Given the description of an element on the screen output the (x, y) to click on. 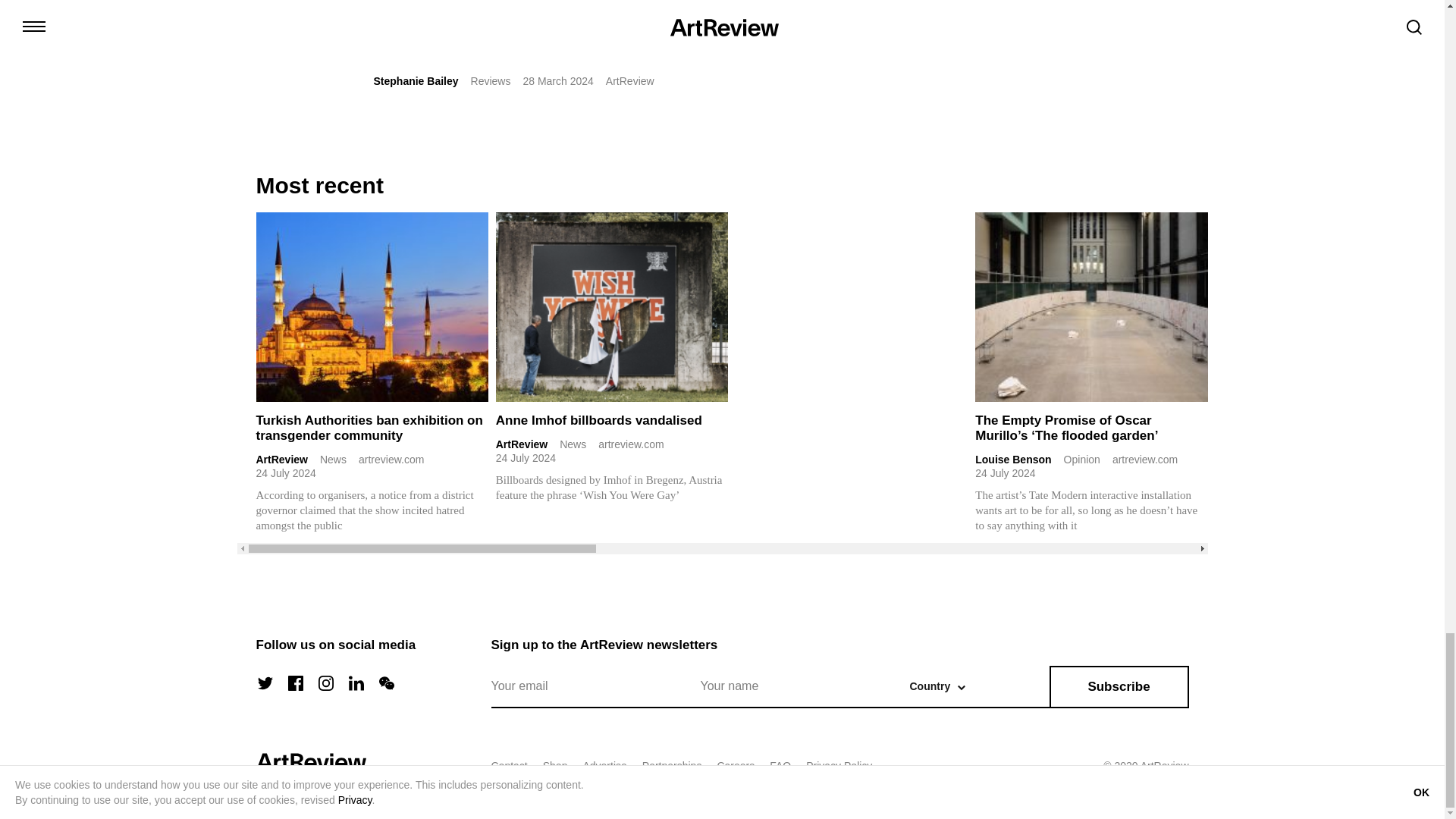
Reviews (490, 80)
Stephanie Bailey (415, 80)
ongoing (706, 42)
